Given the description of an element on the screen output the (x, y) to click on. 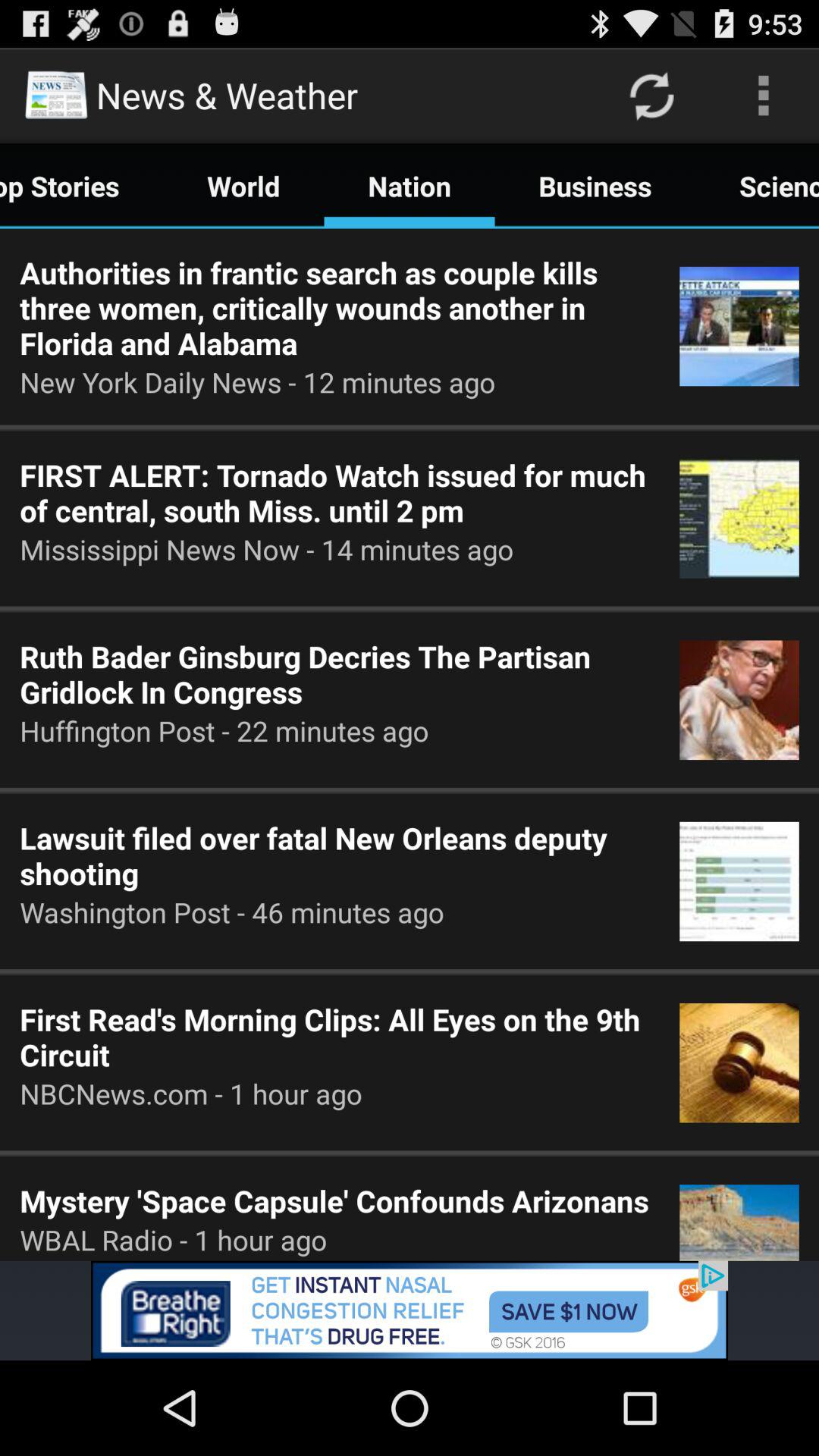
click on the first image (739, 326)
select the 2nd picture from the top (739, 518)
select 4th image which is below scienc at the right side of the page (739, 881)
click on the image right to the text mystery space capsule confounds arizonans (739, 1208)
